Given the description of an element on the screen output the (x, y) to click on. 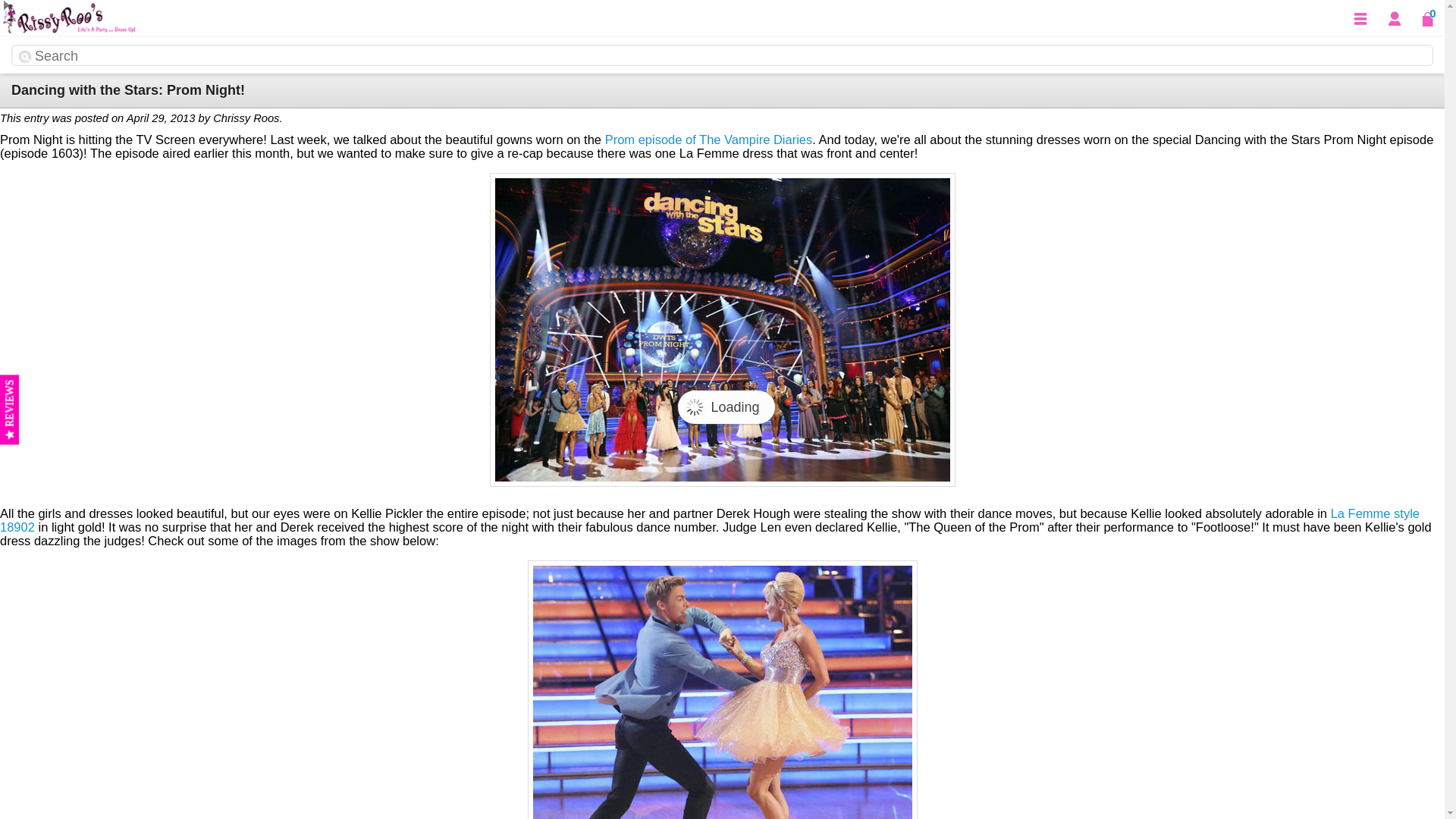
Kellie Pickler in La Femme 18902 on Dancing with the Stars (722, 689)
